Given the description of an element on the screen output the (x, y) to click on. 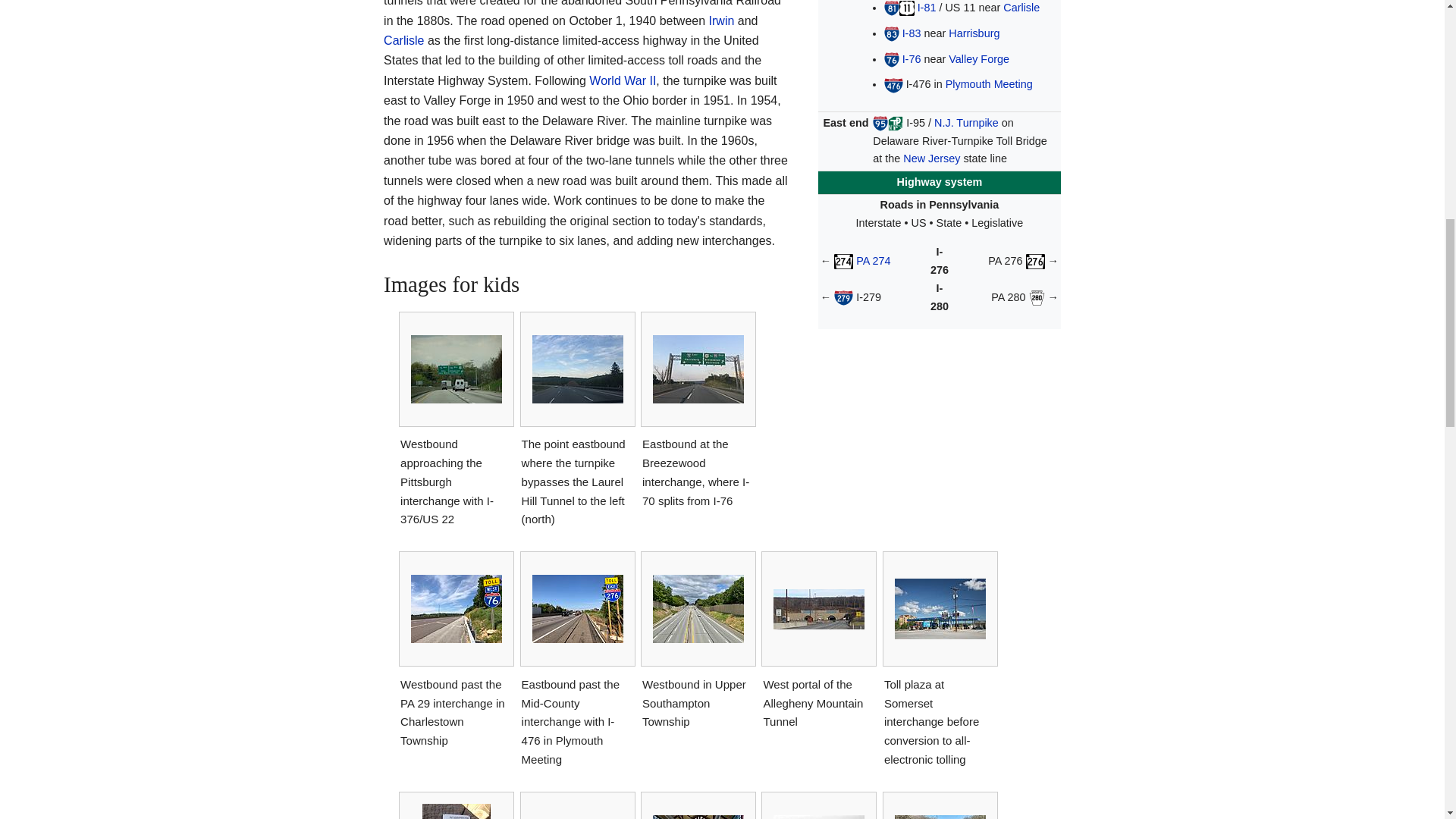
N.J. Turnpike (966, 122)
New Jersey (930, 158)
Plymouth Meeting, Pennsylvania (988, 83)
Carlisle (1021, 7)
Carlisle, Pennsylvania (1021, 7)
I-83 (911, 33)
Harrisburg (973, 33)
I-76 (911, 59)
Valley Forge (979, 59)
Harrisburg, Pennsylvania (973, 33)
I-81 (926, 7)
PA 274 (872, 260)
Plymouth Meeting (988, 83)
Valley Forge, Pennsylvania (979, 59)
New Jersey Turnpike (966, 122)
